Given the description of an element on the screen output the (x, y) to click on. 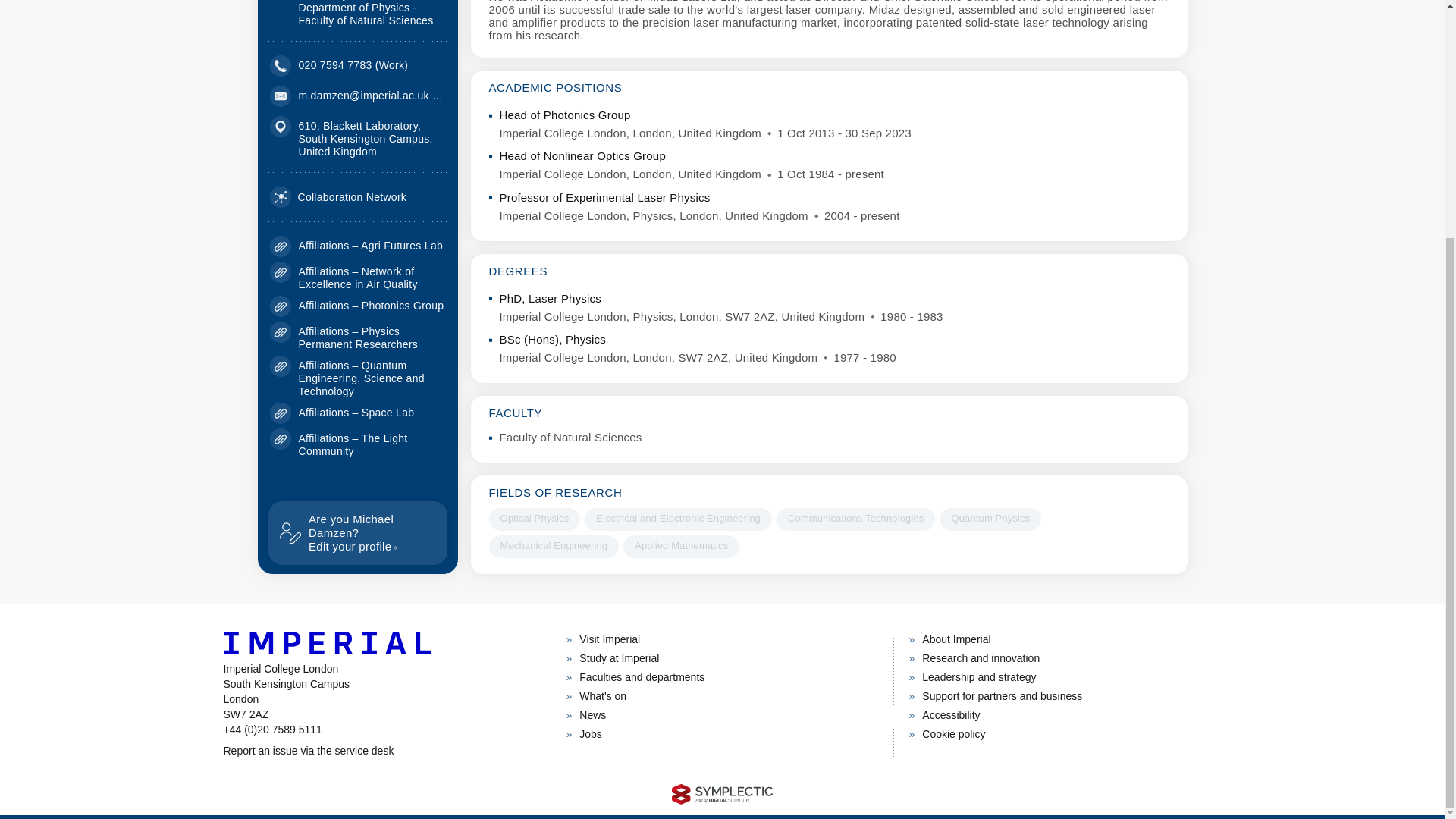
Communications Technologies (856, 518)
Mechanical Engineering (552, 546)
Optical Physics (533, 518)
Collaboration Network (356, 533)
Applied Mathematics (338, 197)
Electrical and Electronic Engineering (681, 546)
Report an issue via the service desk (678, 518)
Quantum Physics (378, 750)
Symplectic, part of Digital Science (990, 518)
